Given the description of an element on the screen output the (x, y) to click on. 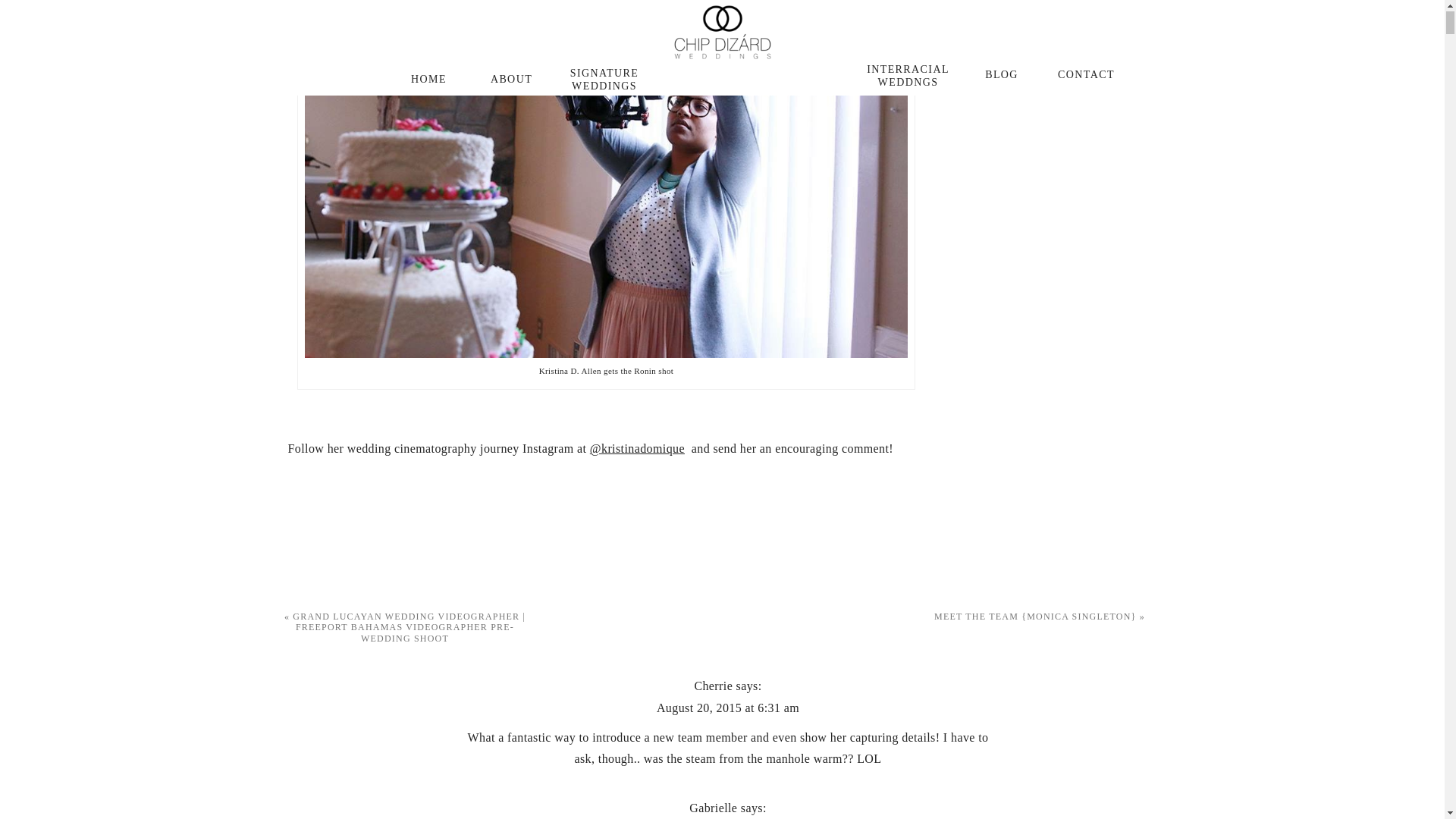
August 20, 2015 at 6:31 am (727, 707)
